Given the description of an element on the screen output the (x, y) to click on. 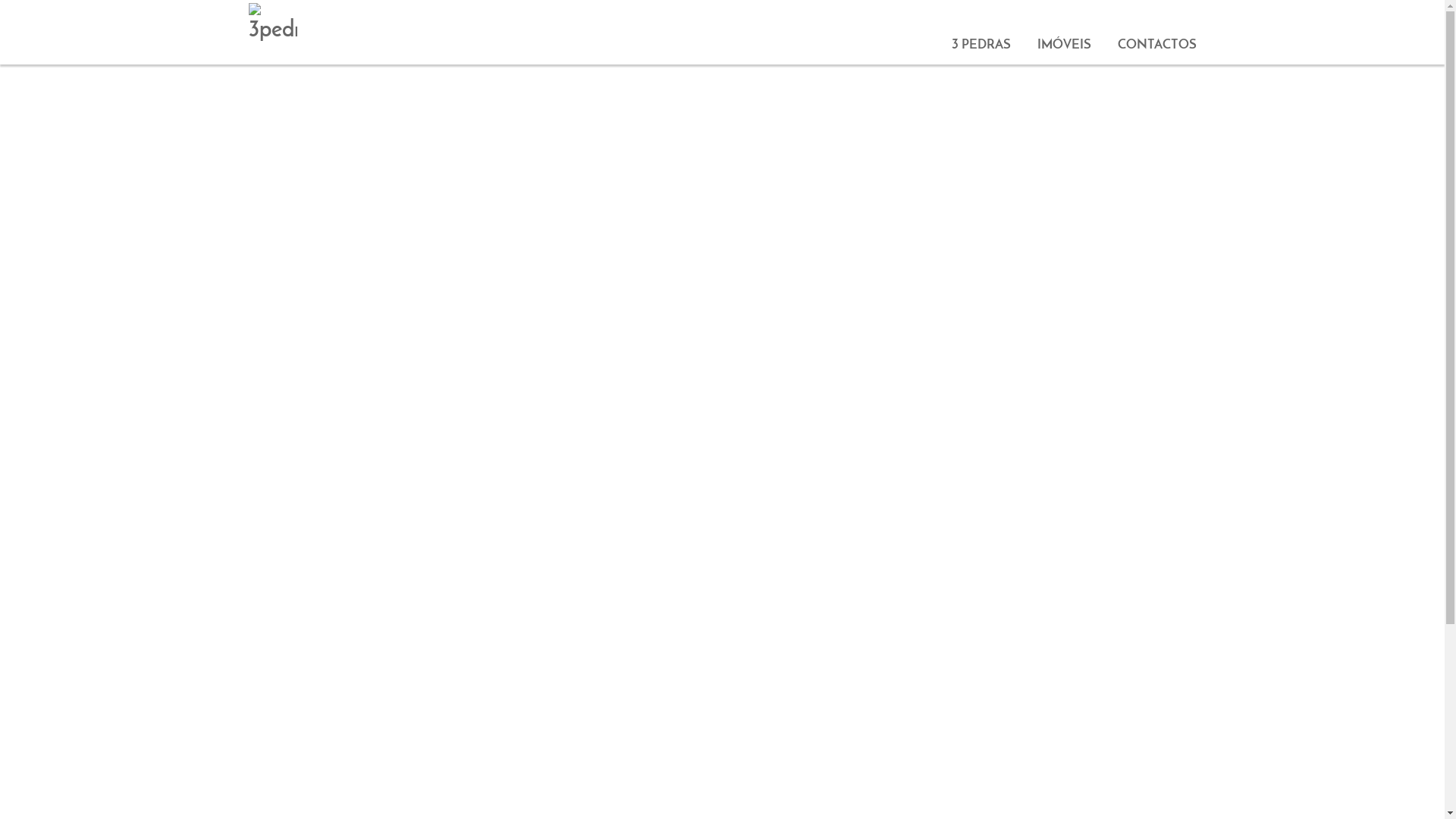
CONTACTOS Element type: text (1156, 39)
3 PEDRAS Element type: text (980, 39)
